Given the description of an element on the screen output the (x, y) to click on. 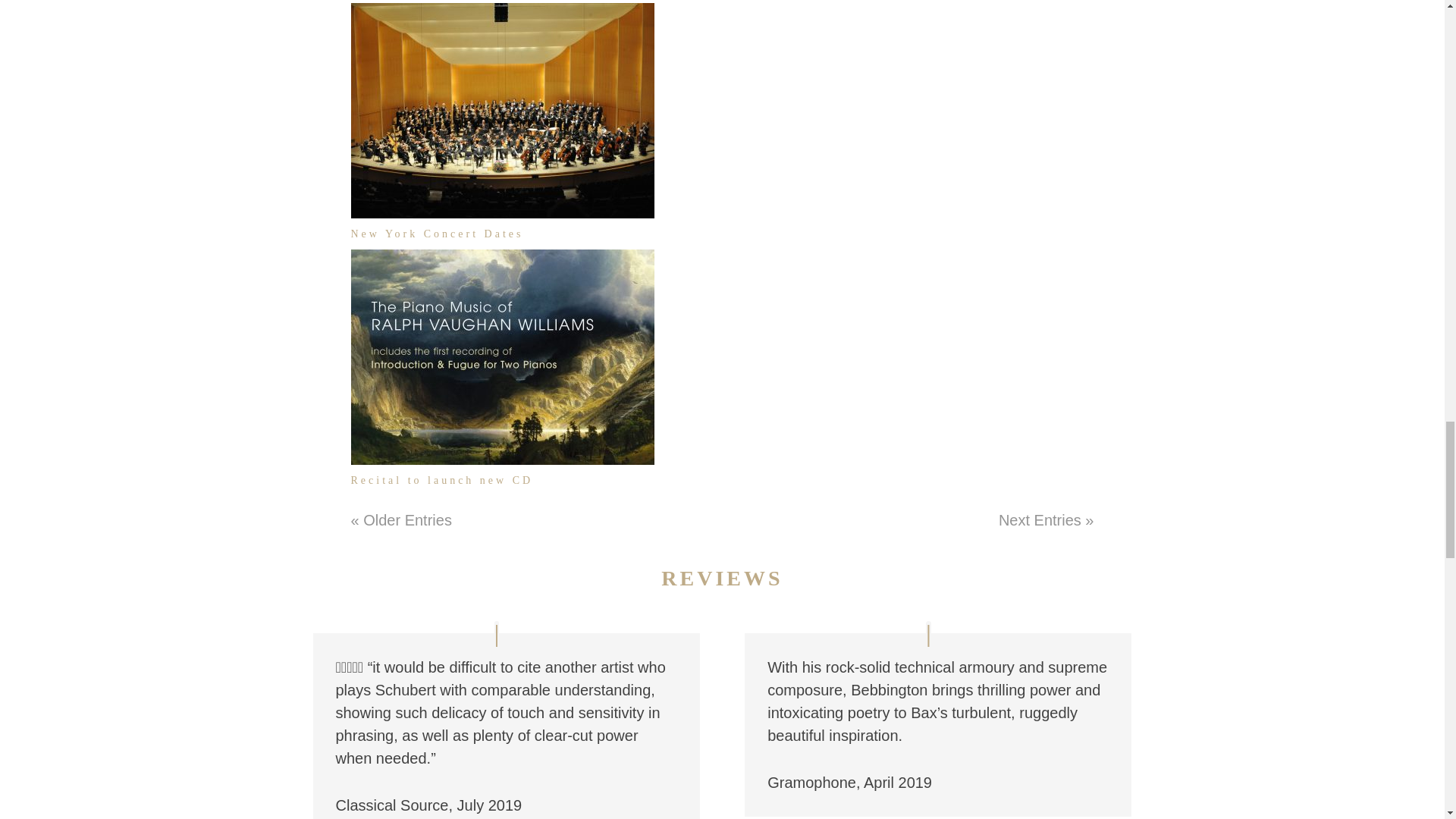
Recital to launch new CD (441, 480)
New York Concert Dates (436, 233)
